Given the description of an element on the screen output the (x, y) to click on. 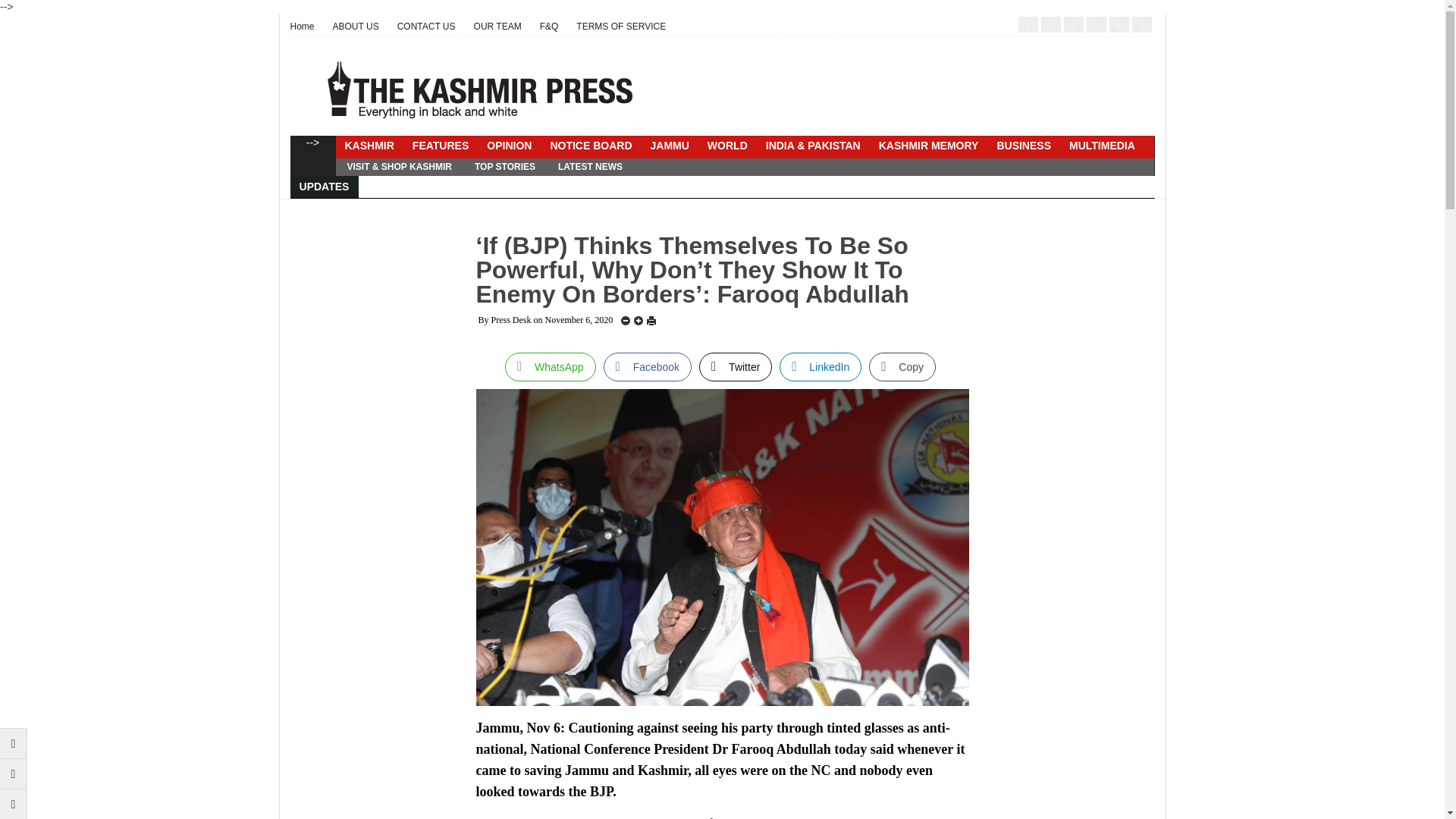
FEATURES (440, 145)
JAMMU (670, 145)
WORLD (727, 145)
OPINION (508, 145)
BUSINESS (1023, 145)
ABOUT US (355, 26)
KASHMIR MEMORY (928, 145)
KASHMIR (368, 145)
LATEST NEWS (590, 166)
NOTICE BOARD (590, 145)
